Given the description of an element on the screen output the (x, y) to click on. 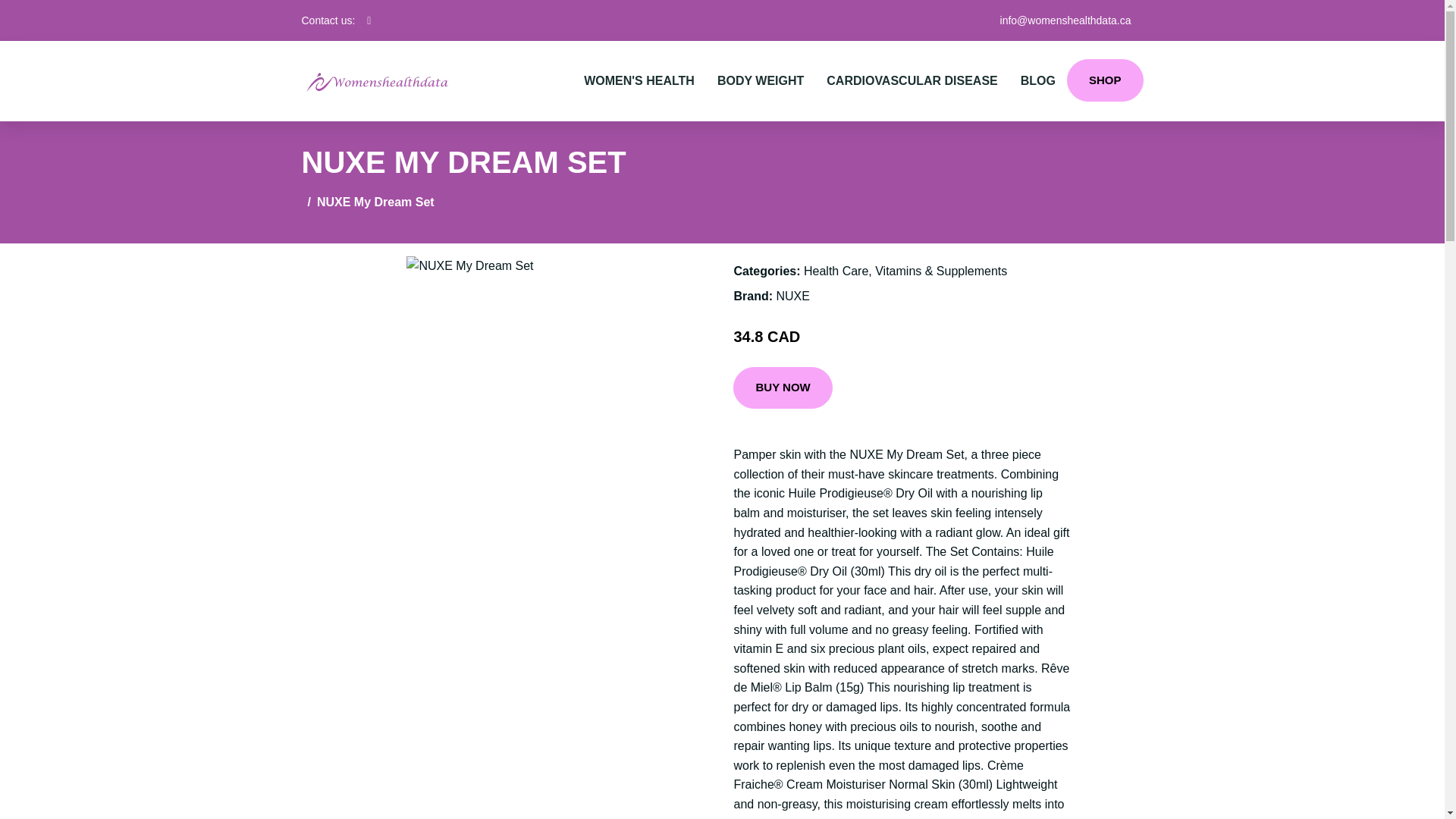
Health Care (835, 270)
BODY WEIGHT (760, 80)
CARDIOVASCULAR DISEASE (912, 80)
SHOP (1104, 79)
WOMEN'S HEALTH (639, 80)
BUY NOW (782, 387)
